Given the description of an element on the screen output the (x, y) to click on. 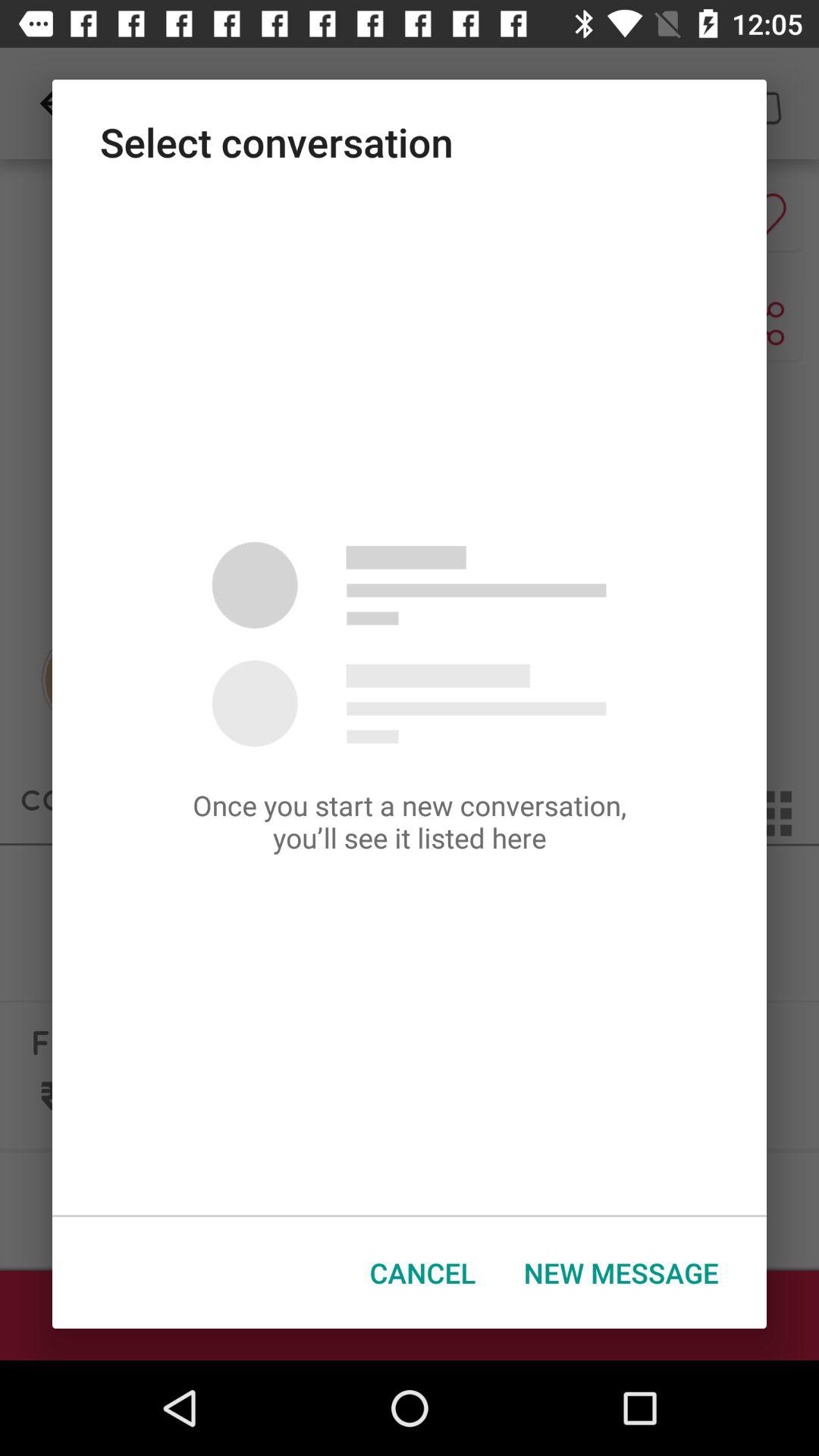
select the icon to the left of new message icon (422, 1272)
